Given the description of an element on the screen output the (x, y) to click on. 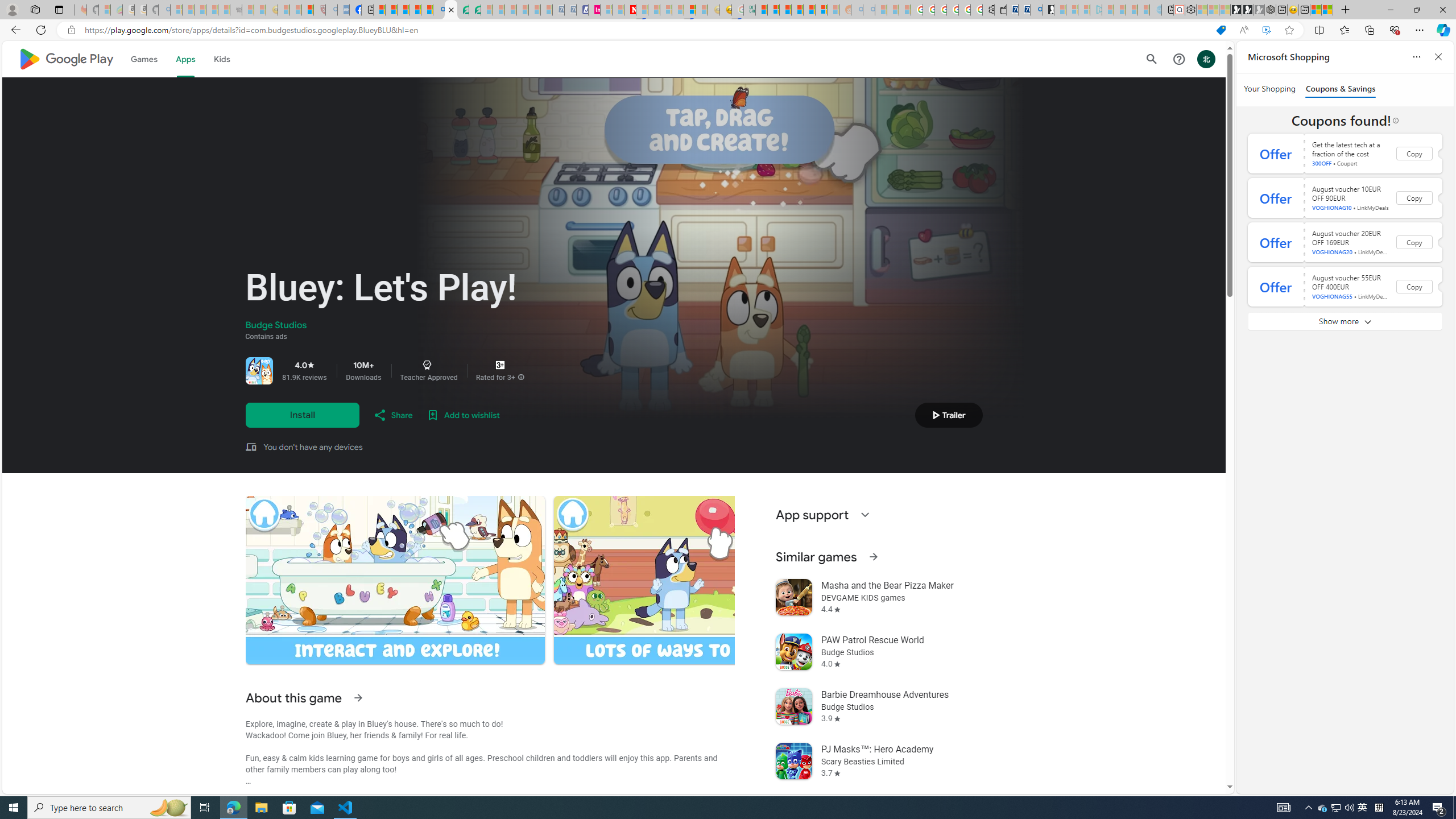
Nordace - Nordace Siena Is Not An Ordinary Backpack (1270, 9)
See more information on Similar games (872, 556)
DITOGAMES AG Imprint (749, 9)
Content rating (500, 364)
Class: B6ueub (426, 365)
Cheap Car Rentals - Save70.com (1024, 9)
